Given the description of an element on the screen output the (x, y) to click on. 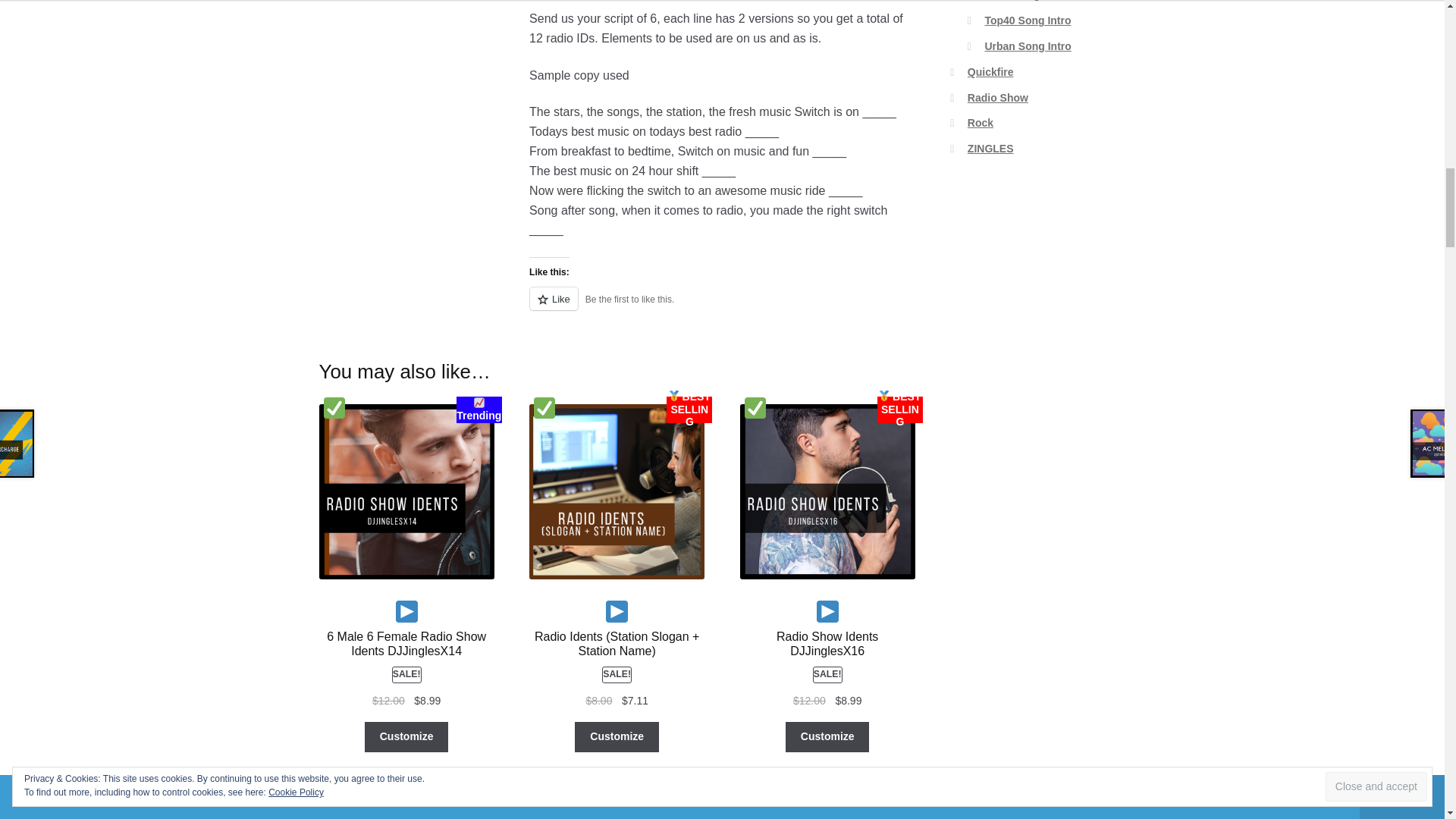
Like or Reblog (722, 307)
